Given the description of an element on the screen output the (x, y) to click on. 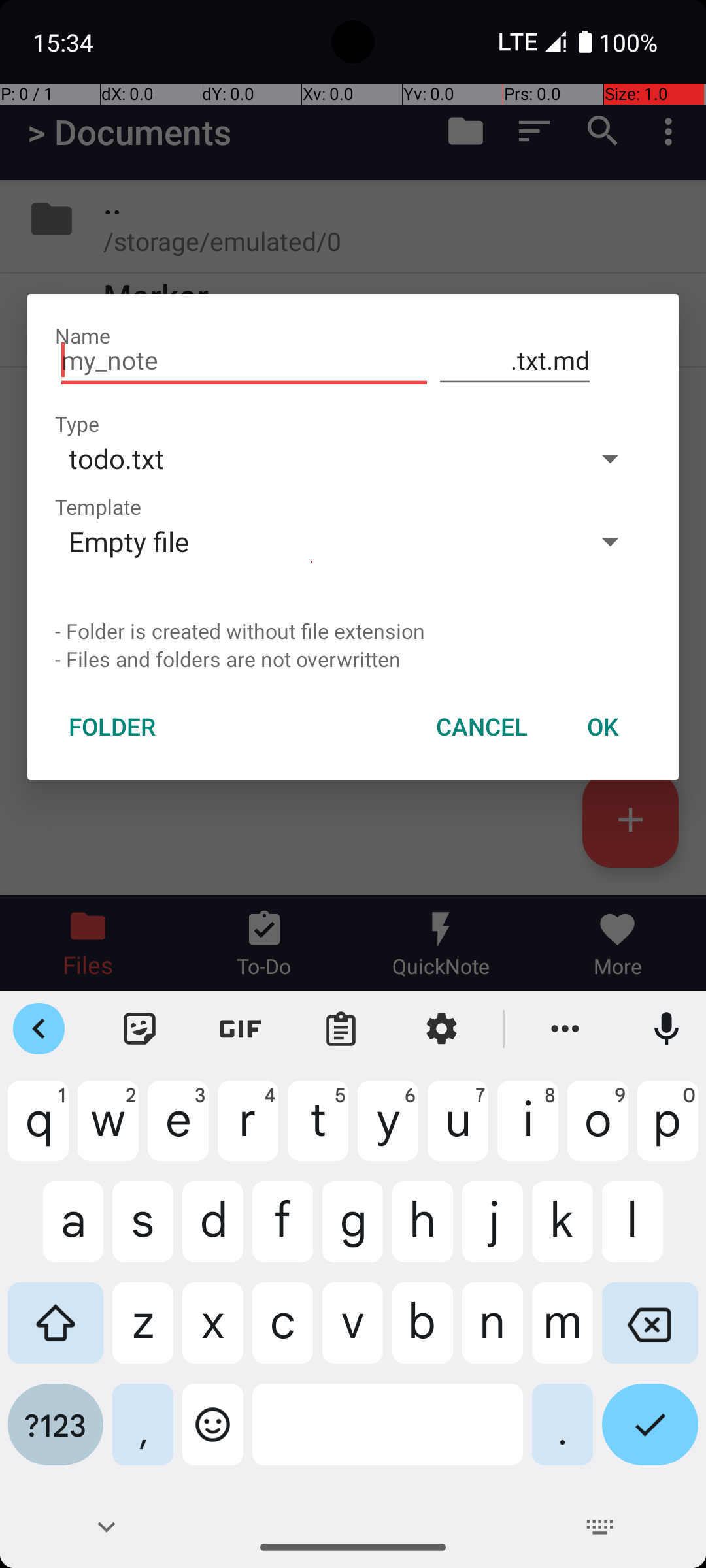
.txt.md Element type: android.widget.EditText (514, 360)
